Given the description of an element on the screen output the (x, y) to click on. 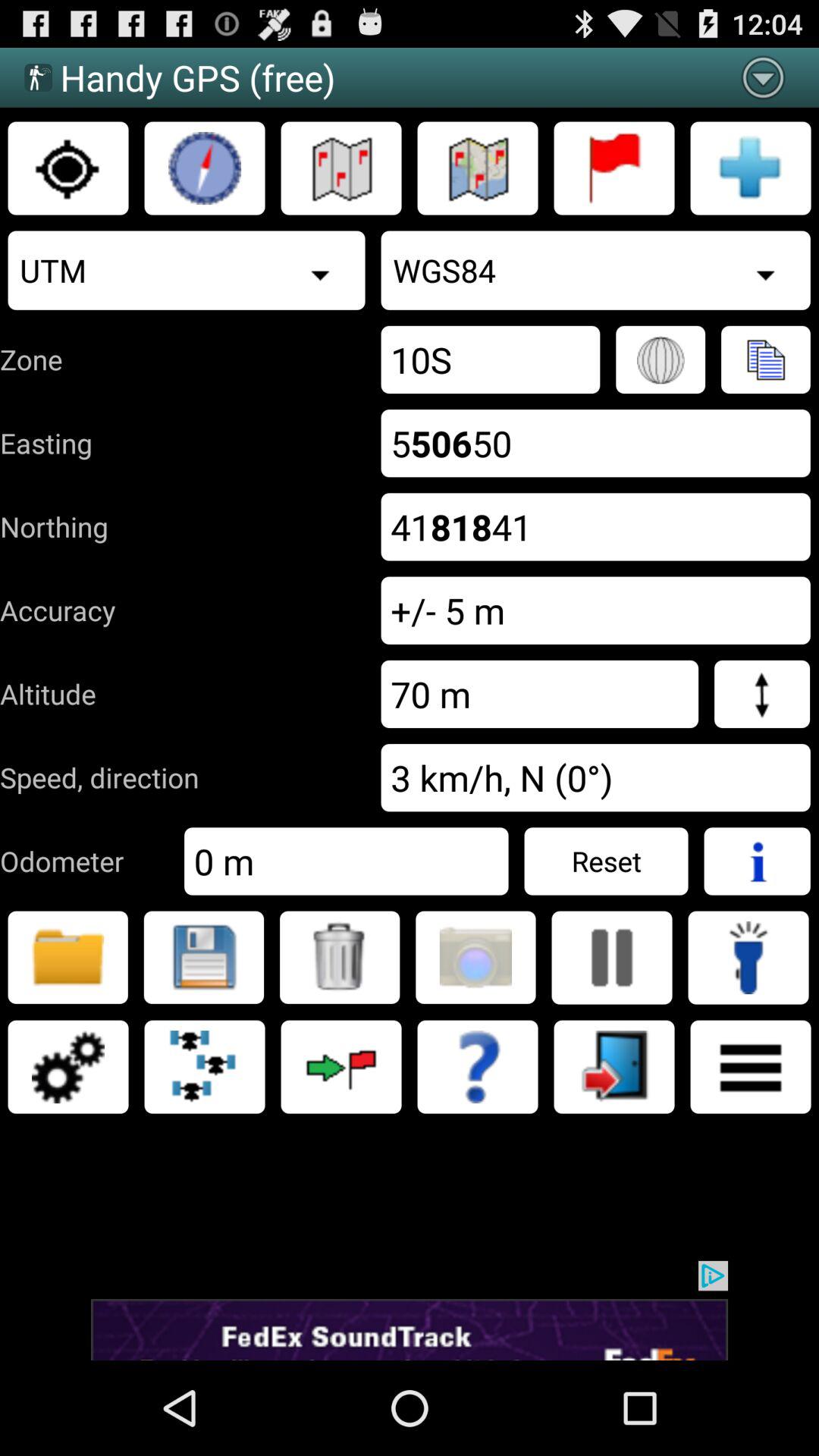
aligns beer vertically (611, 957)
